Given the description of an element on the screen output the (x, y) to click on. 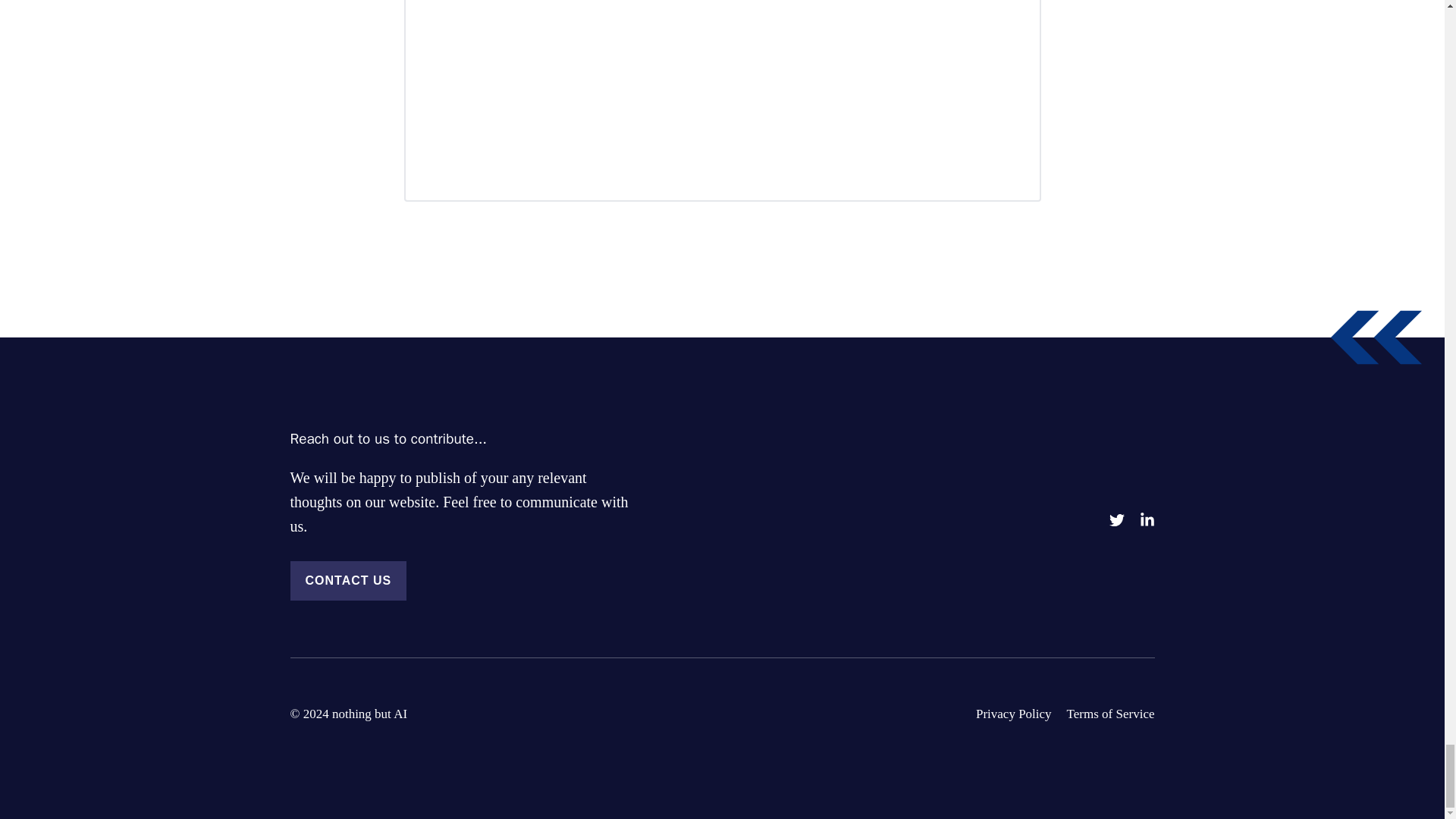
CONTACT US (347, 580)
Terms of Service (1110, 713)
Privacy Policy (1013, 713)
